Given the description of an element on the screen output the (x, y) to click on. 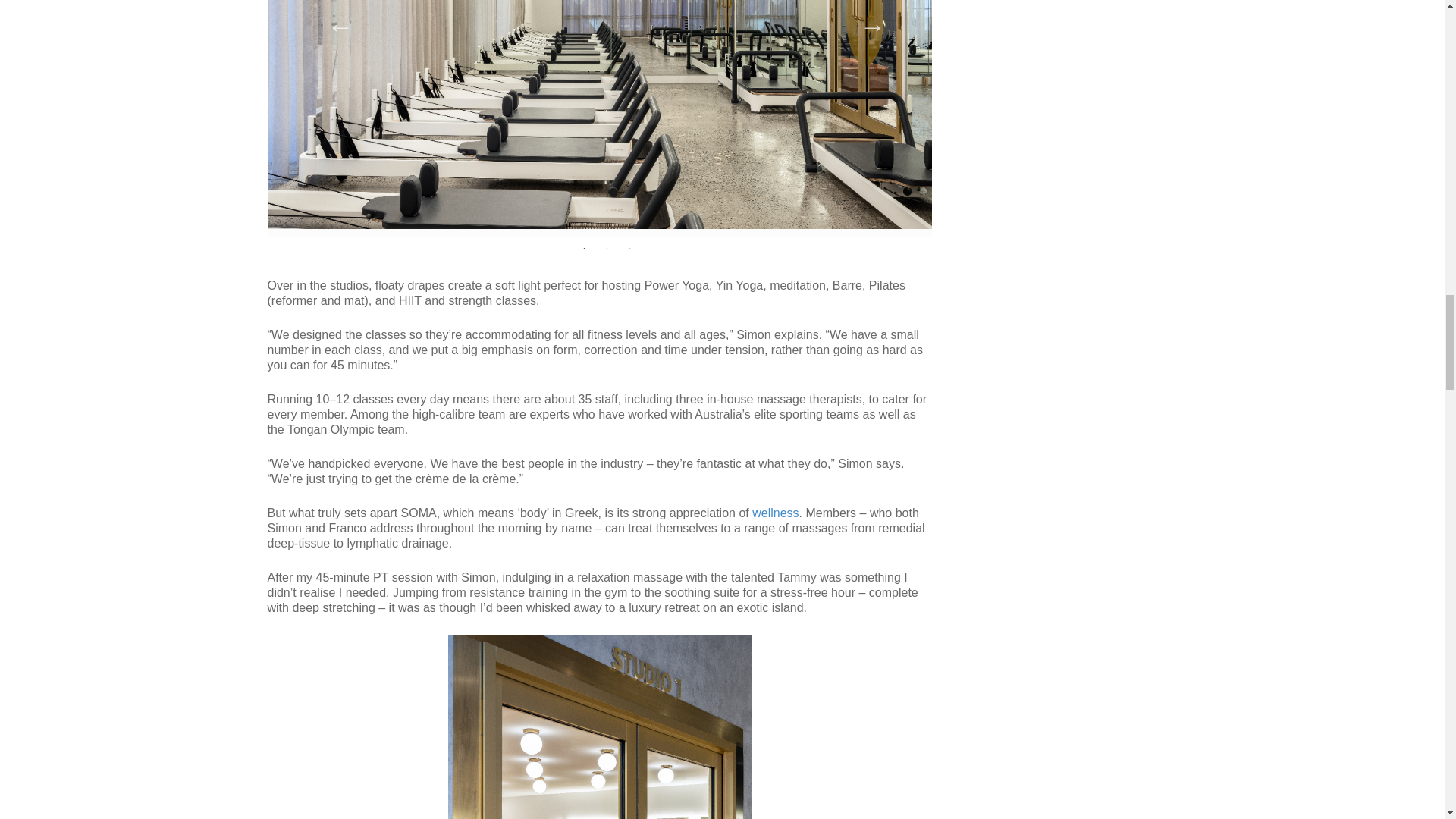
NEXT (858, 20)
PREVIOUS (326, 20)
2 (606, 252)
wellness (774, 512)
1 (583, 252)
3 (629, 252)
